Given the description of an element on the screen output the (x, y) to click on. 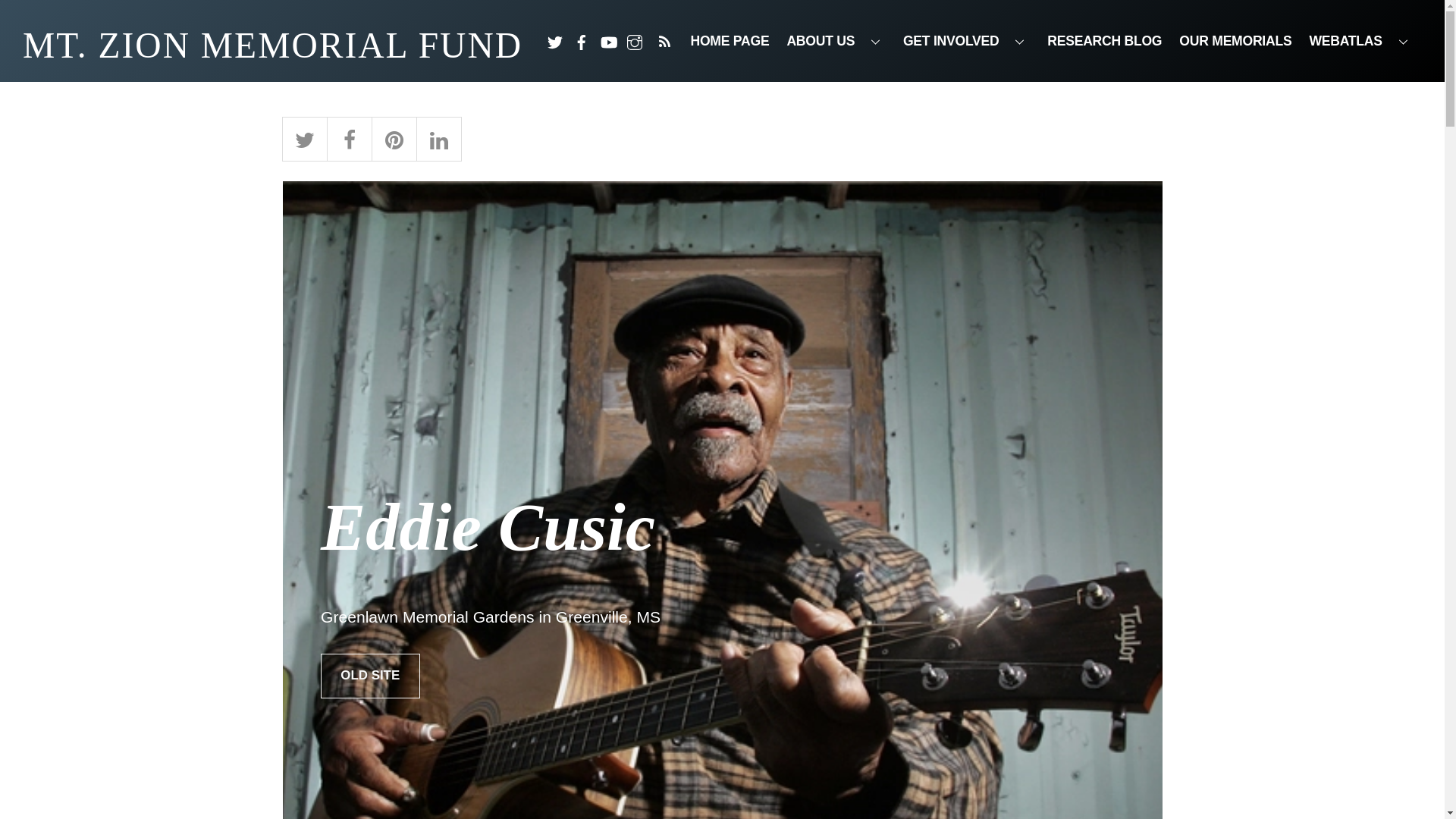
RSS (664, 41)
MT. ZION MEMORIAL FUND (272, 45)
GET INVOLVED (966, 41)
OUR MEMORIALS (1235, 41)
Pinterest (393, 137)
ABOUT US (835, 41)
Facebook (348, 137)
LinkedIn (437, 137)
RESEARCH BLOG (1105, 41)
Twitter (304, 137)
Mt. Zion Memorial Fund (272, 45)
OLD SITE (370, 675)
HOME PAGE (729, 41)
WEBATLAS (1361, 41)
